Given the description of an element on the screen output the (x, y) to click on. 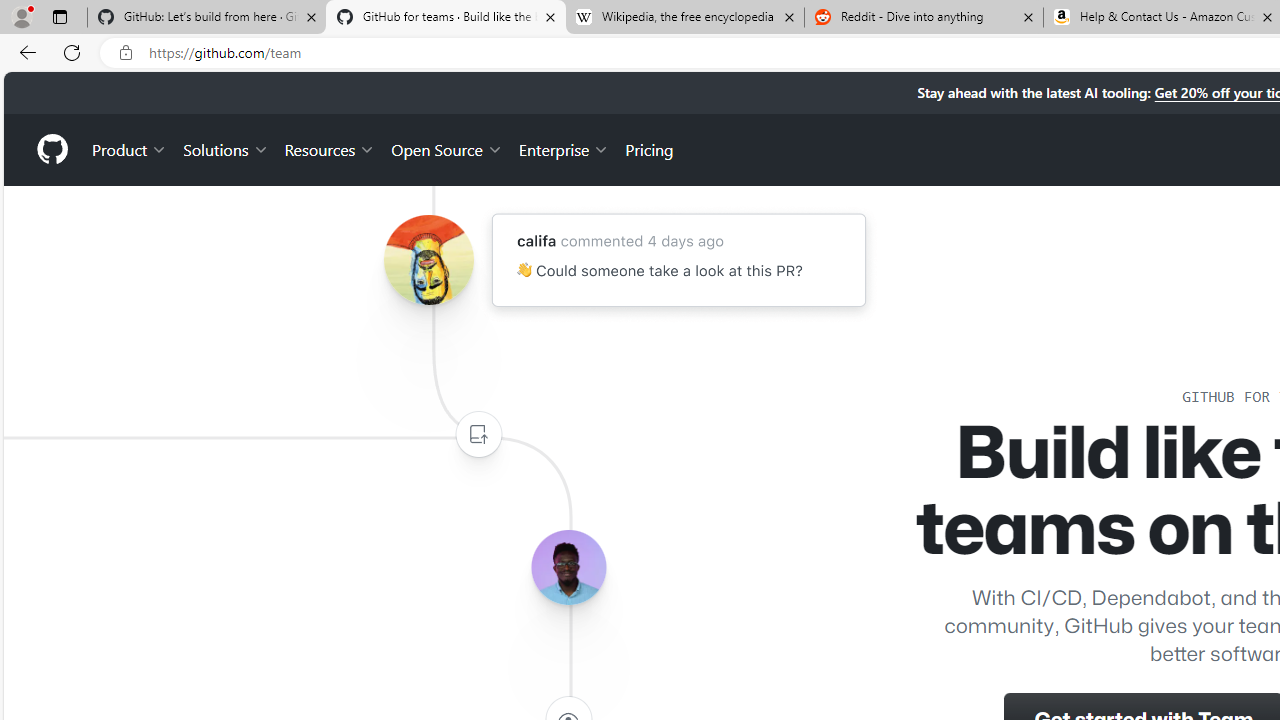
Avatar of the user califa (428, 260)
Avatar of the user lerebear (568, 567)
Open Source (446, 148)
Enterprise (563, 148)
Wikipedia, the free encyclopedia (684, 17)
